Given the description of an element on the screen output the (x, y) to click on. 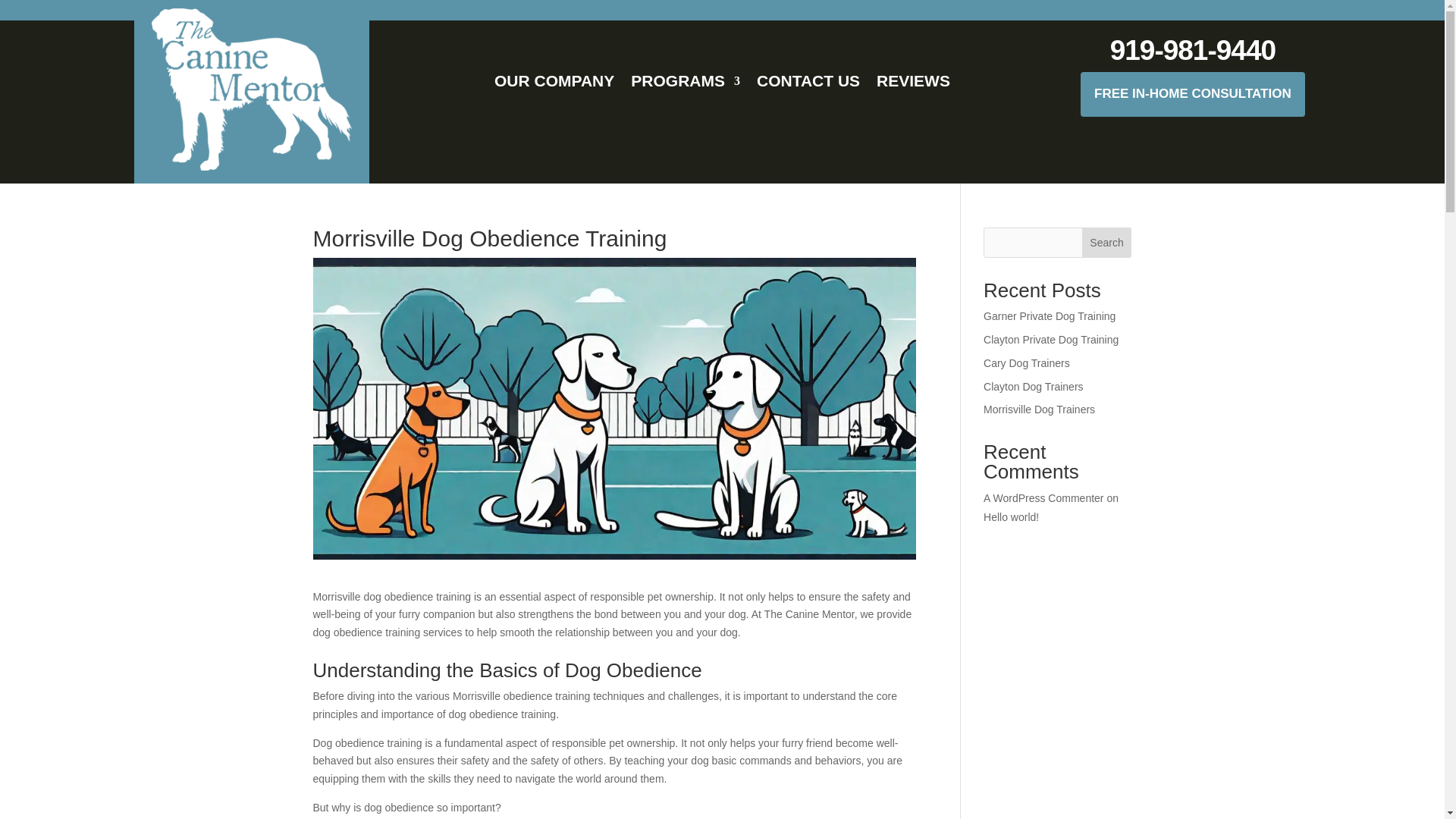
REVIEWS (913, 84)
PROGRAMS (684, 84)
Clayton Dog Trainers (1033, 386)
Cary Dog Trainers (1027, 363)
Garner Private Dog Training (1049, 316)
919-981-9440 (1192, 50)
OUR COMPANY (554, 84)
CONTACT US (808, 84)
Search (1106, 242)
FREE IN-HOME CONSULTATION (1192, 94)
